Given the description of an element on the screen output the (x, y) to click on. 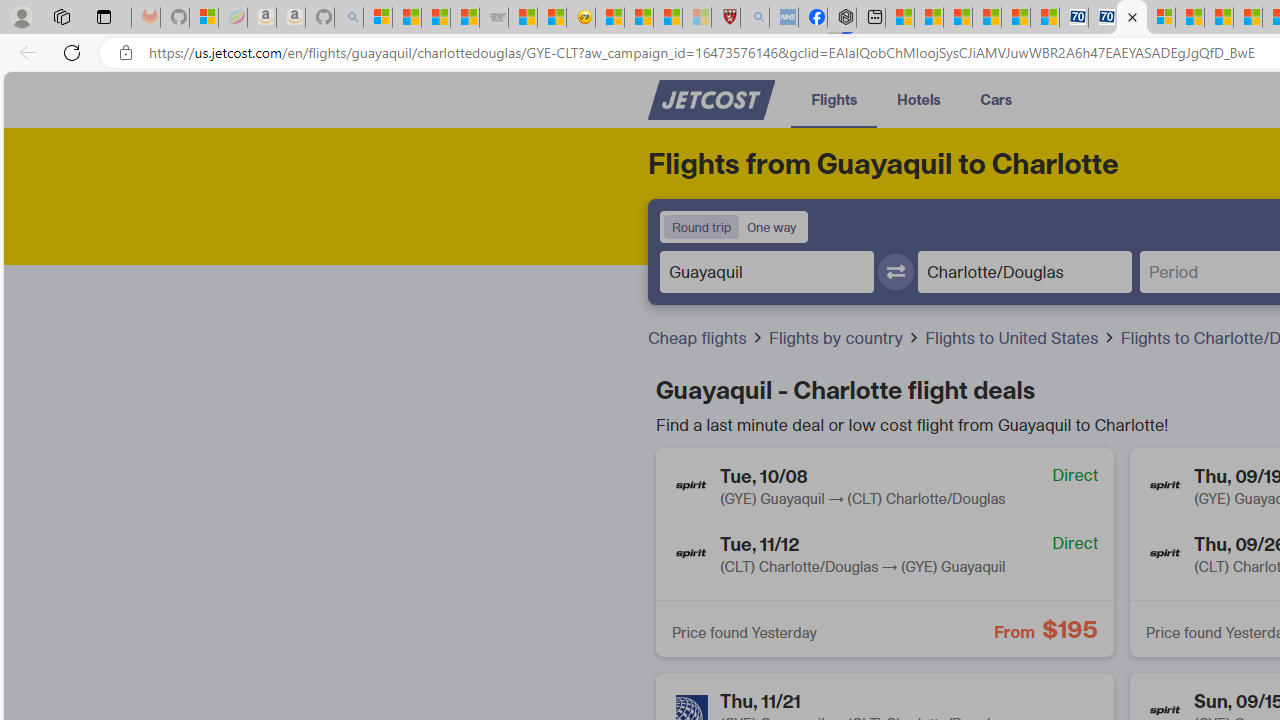
Class: no-underline cursor-pointer (711, 99)
Hotels (918, 98)
Flights by country (844, 337)
